Given the description of an element on the screen output the (x, y) to click on. 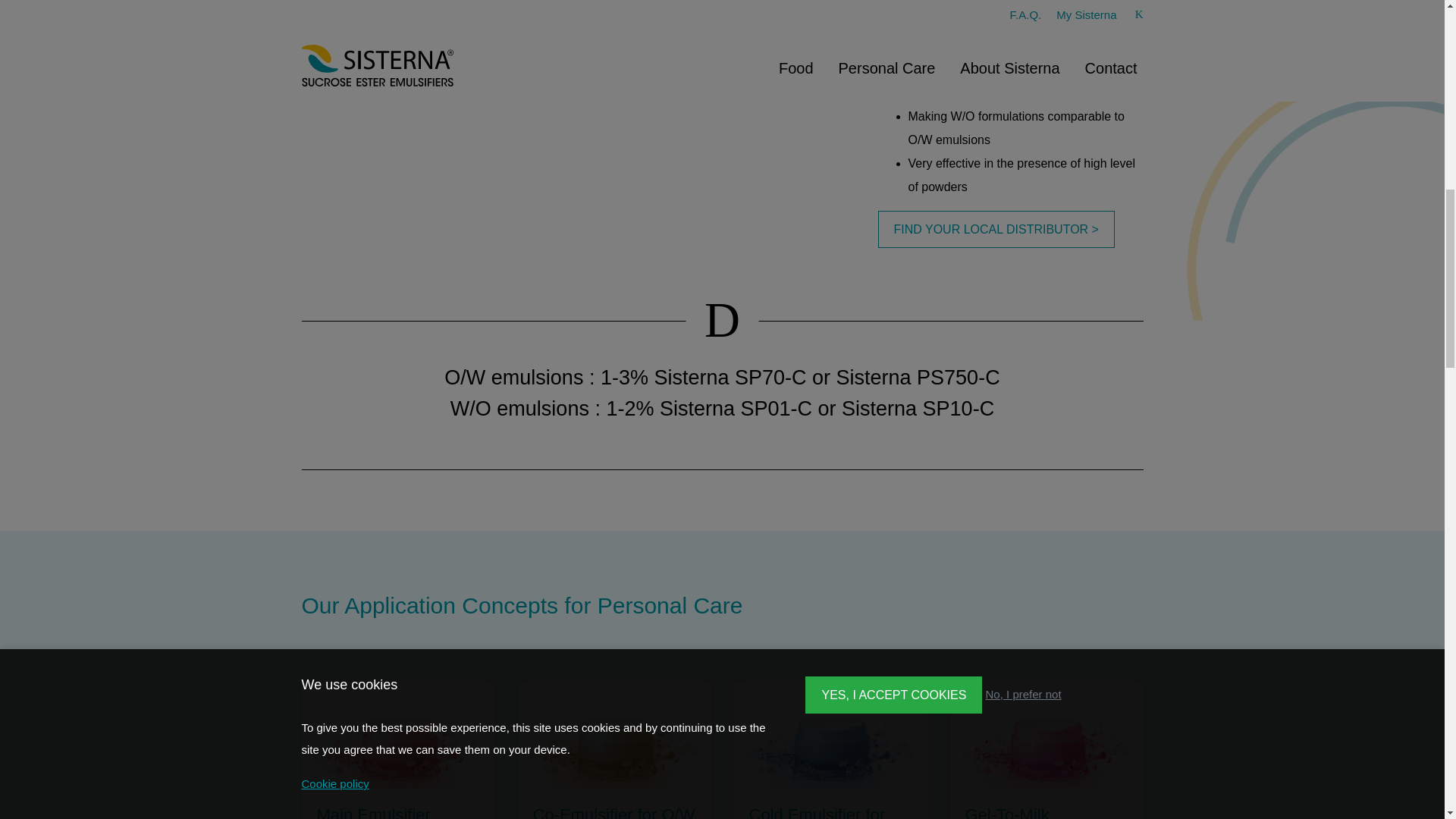
Read More (613, 749)
Read More (830, 749)
Read More (398, 749)
Read More (1045, 749)
